Given the description of an element on the screen output the (x, y) to click on. 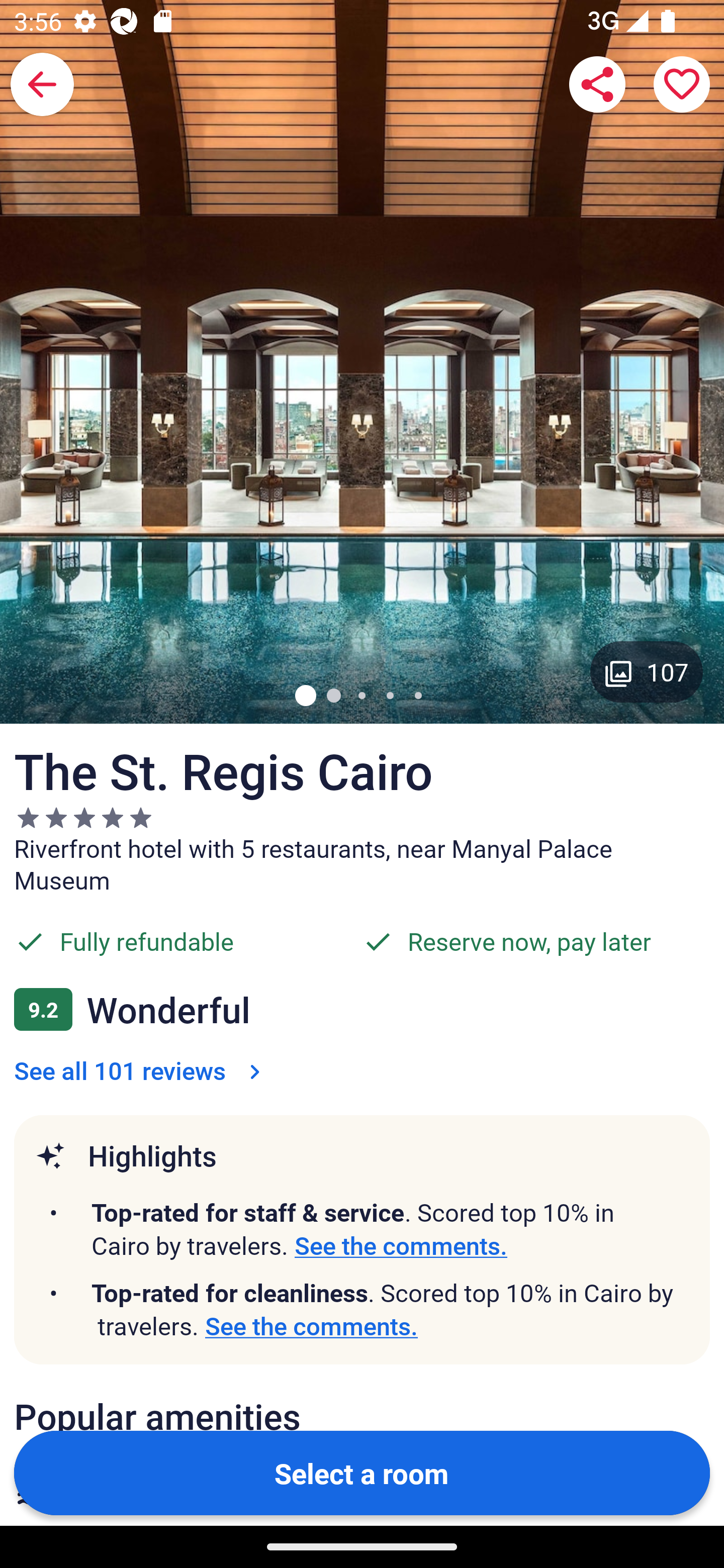
Back (42, 84)
Save property to a trip (681, 84)
Share The St. Regis Cairo (597, 84)
Gallery button with 107 images (646, 671)
See all 101 reviews See all 101 reviews Link (140, 1070)
Select a room Button Select a room (361, 1472)
